Given the description of an element on the screen output the (x, y) to click on. 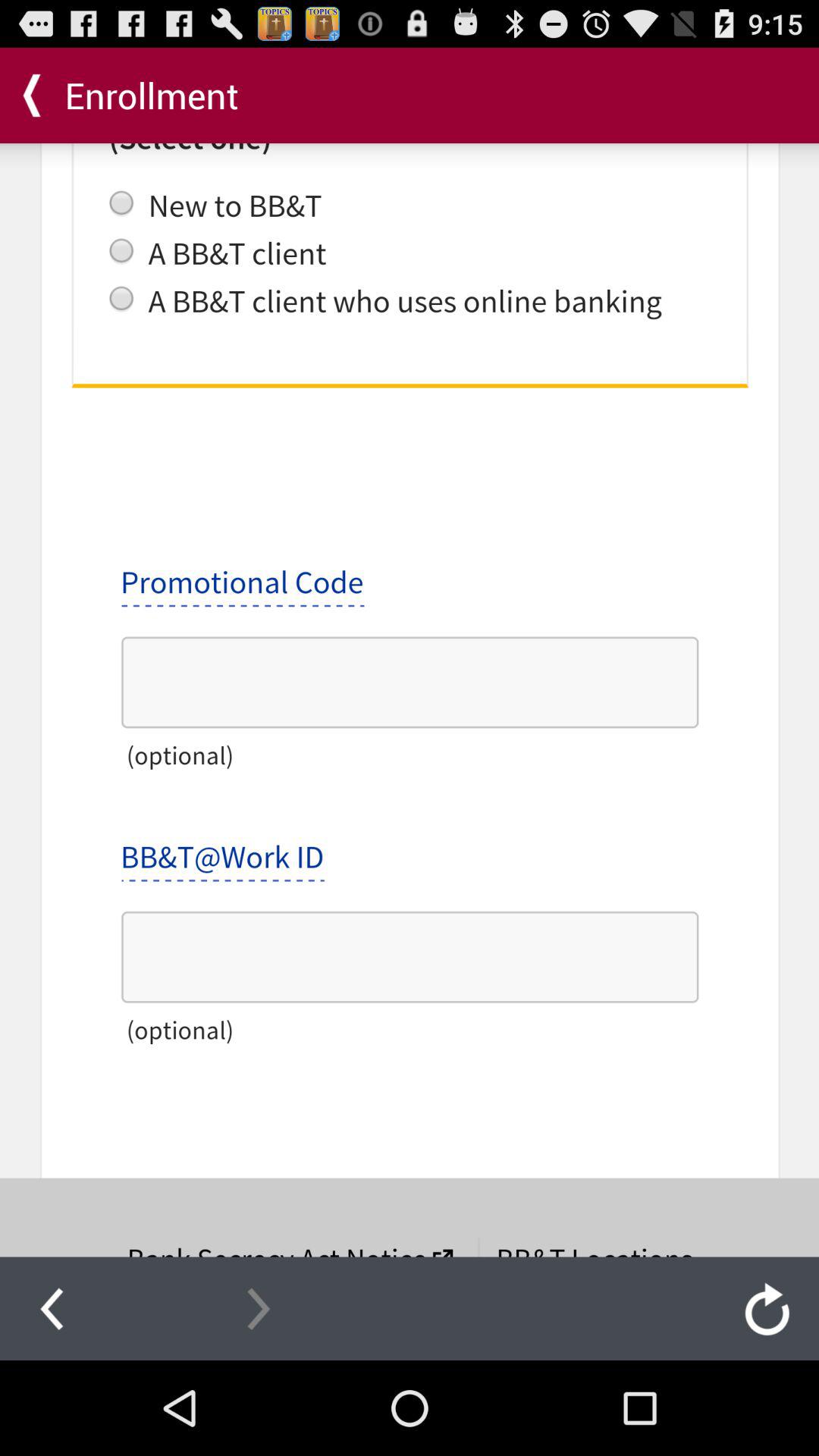
go to next page (258, 1308)
